Given the description of an element on the screen output the (x, y) to click on. 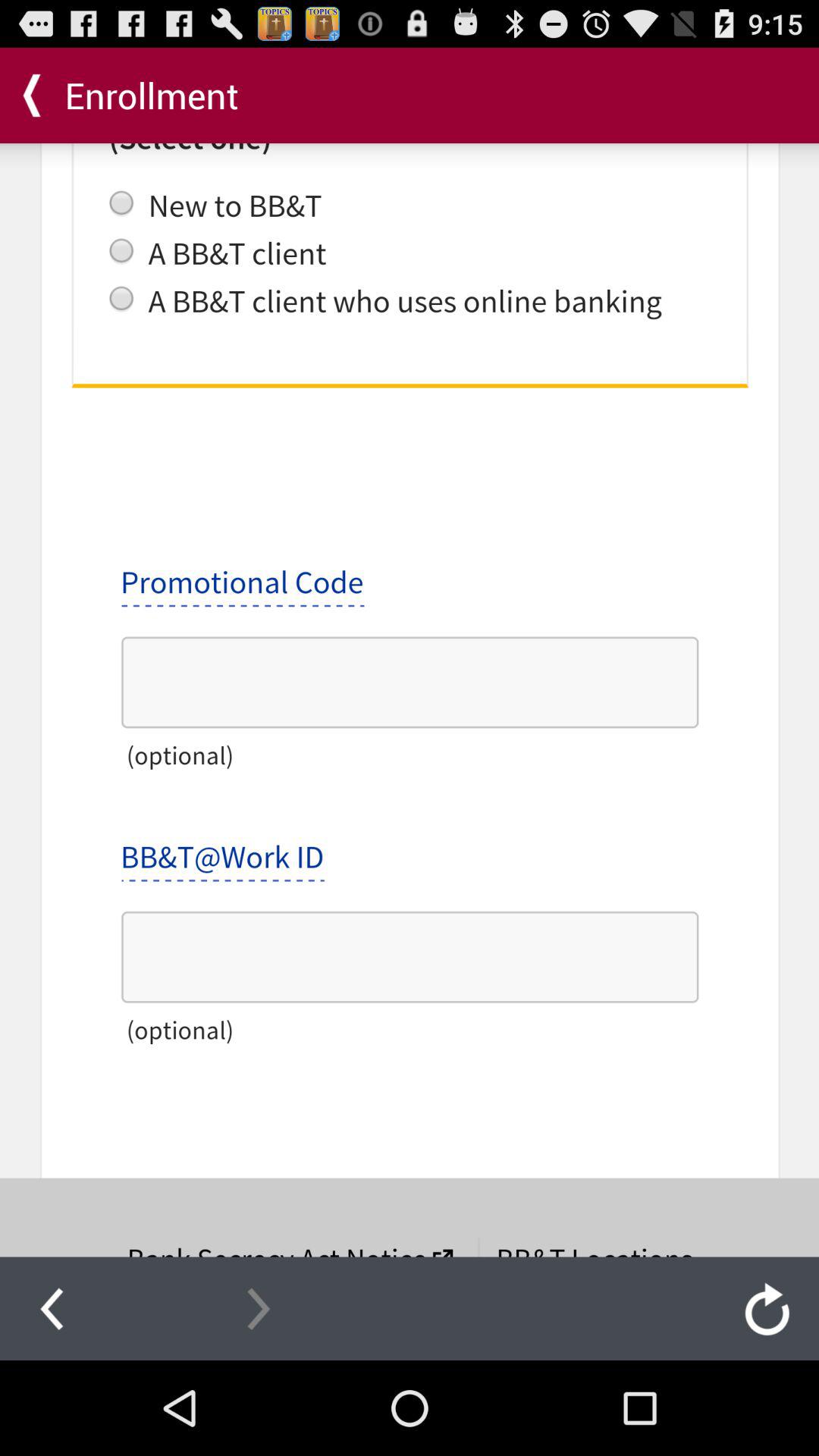
go to next page (258, 1308)
